Given the description of an element on the screen output the (x, y) to click on. 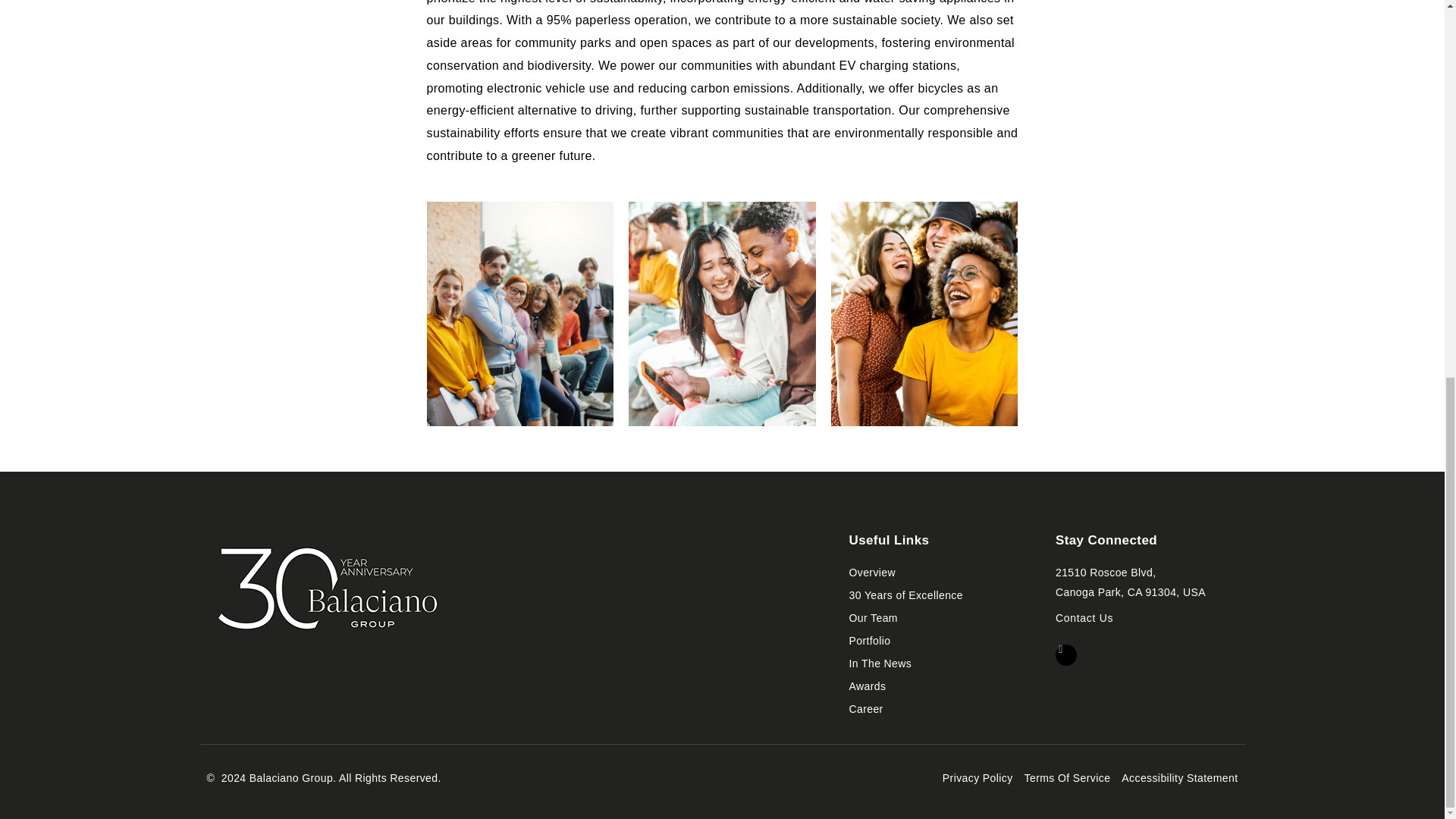
30 Years of Excellence (936, 596)
Contact Us (1084, 618)
Terms Of Service (1067, 778)
Accessibility Statement (1142, 582)
Overview (1179, 778)
In The News (936, 573)
Portfolio (936, 664)
Career (936, 641)
Awards (936, 709)
Our Team (936, 686)
Privacy Policy (936, 618)
